Given the description of an element on the screen output the (x, y) to click on. 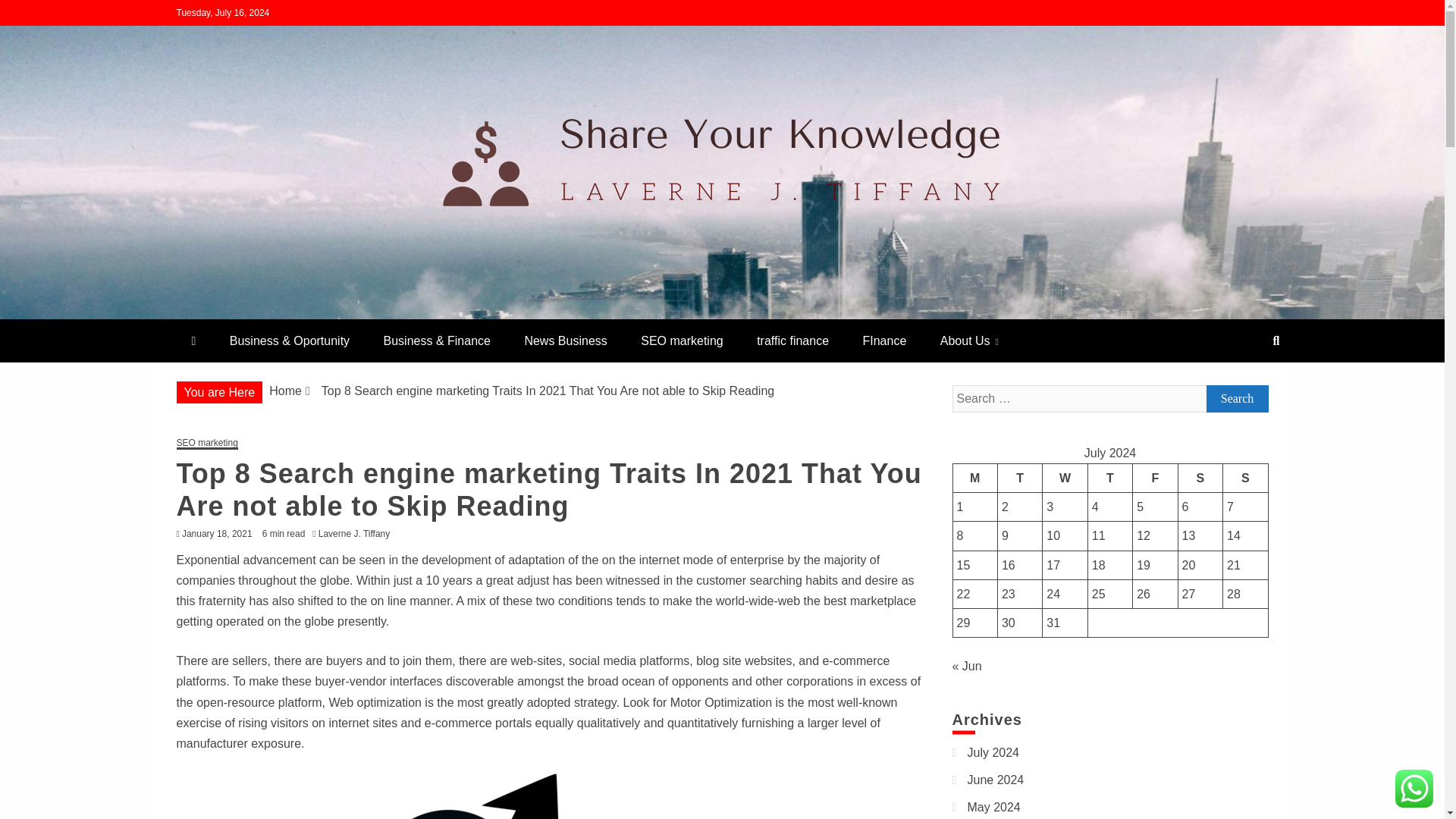
SEO marketing (206, 443)
About Us (968, 340)
Search (31, 13)
orderrimagemarketdeli (331, 312)
SEO marketing (682, 340)
traffic finance (792, 340)
Search (1236, 398)
FInance (884, 340)
January 18, 2021 (216, 533)
Laverne J. Tiffany (357, 533)
Search (1236, 398)
Monday (974, 477)
News Business (564, 340)
Tuesday (1019, 477)
Home (285, 390)
